Given the description of an element on the screen output the (x, y) to click on. 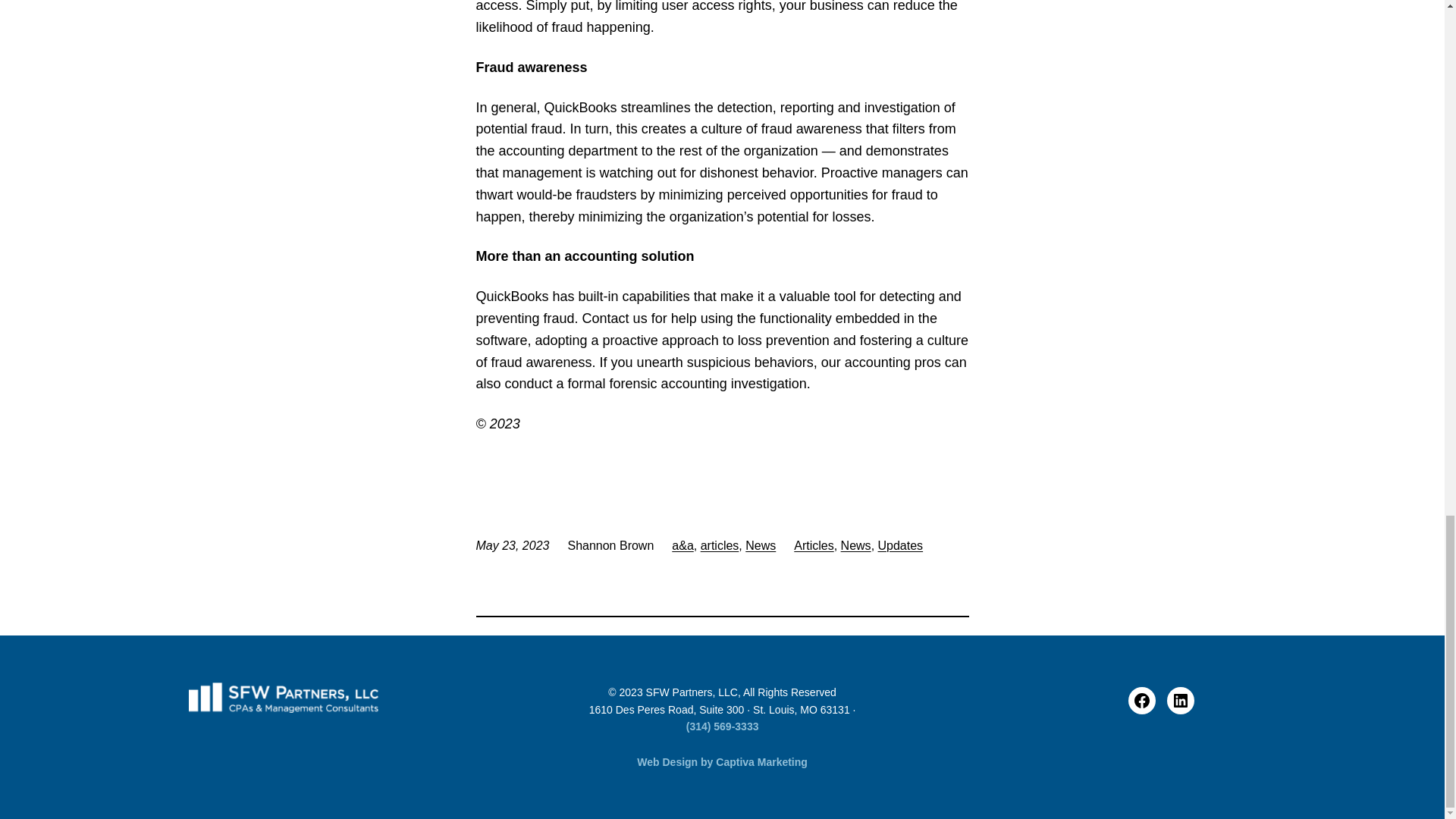
Updates (900, 545)
Articles (812, 545)
articles (719, 545)
News (760, 545)
Facebook (1142, 700)
LinkedIn (1180, 700)
News (855, 545)
